Given the description of an element on the screen output the (x, y) to click on. 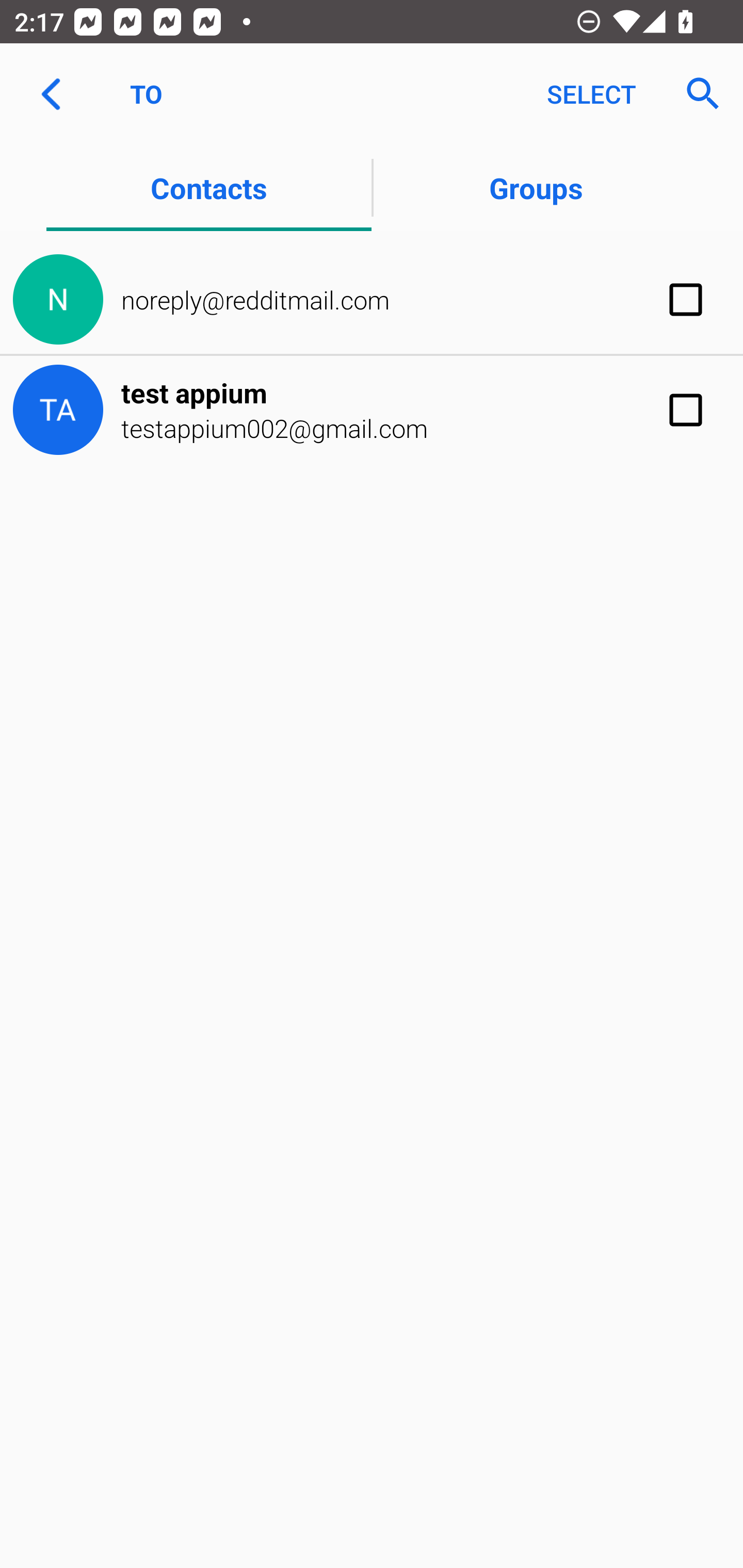
Navigate up (50, 93)
SELECT (590, 93)
Search (696, 93)
Contacts (208, 187)
Groups (535, 187)
noreply@redditmail.com (371, 300)
test appium testappium002@gmail.com (371, 409)
